Given the description of an element on the screen output the (x, y) to click on. 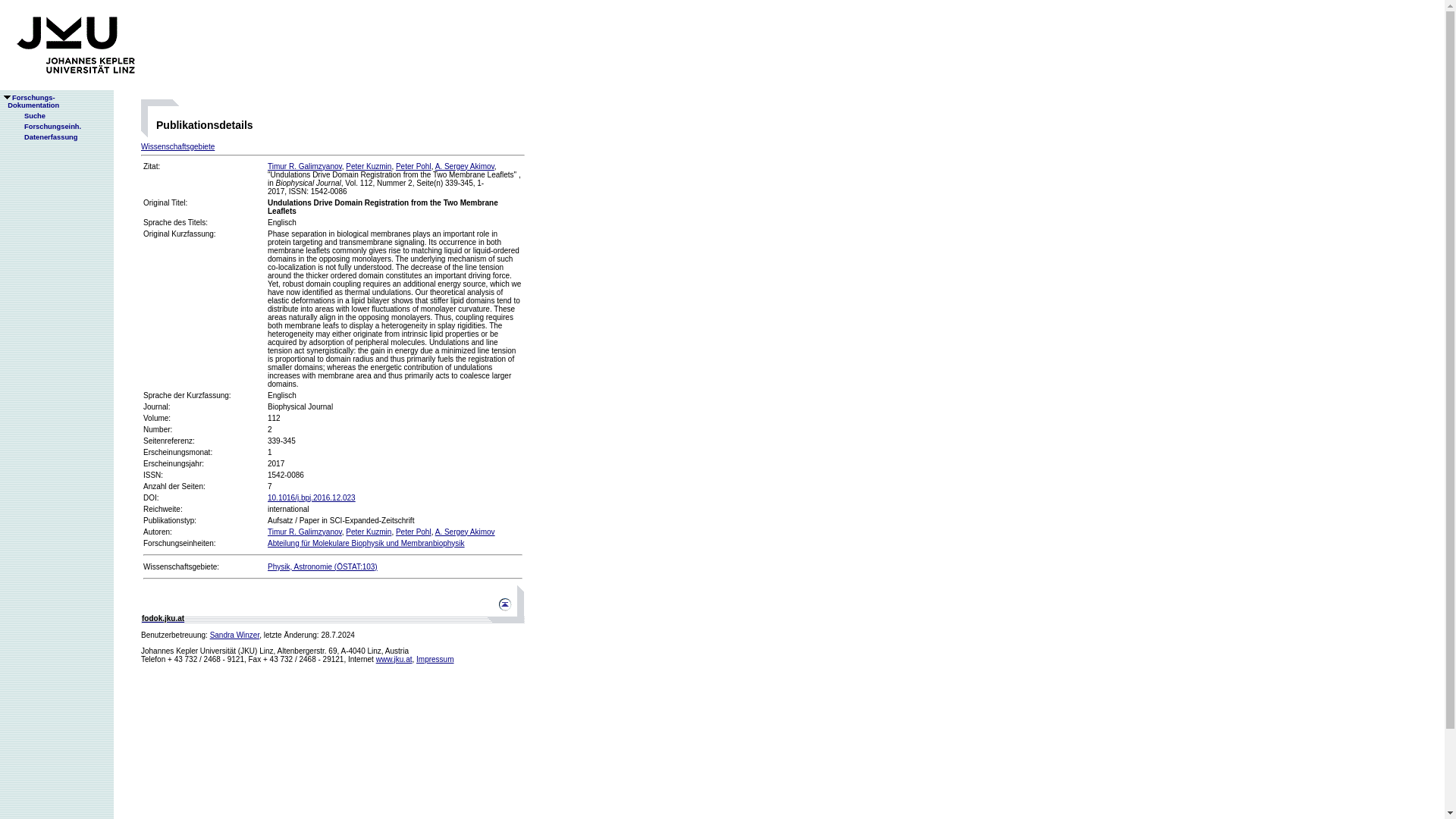
Wissenschaftsgebiete: (180, 566)
Peter Kuzmin (368, 531)
A. Sergey Akimov (29, 101)
Suche (465, 531)
Peter Kuzmin (28, 115)
Timur R. Galimzyanov (368, 166)
Peter Pohl (304, 166)
Impressum (413, 166)
Sandra Winzer (434, 659)
Wissenschaftsgebiete (234, 634)
www.jku.at (177, 146)
fodok.jku.at (393, 659)
A. Sergey Akimov (162, 618)
Datenerfassung (465, 166)
